Given the description of an element on the screen output the (x, y) to click on. 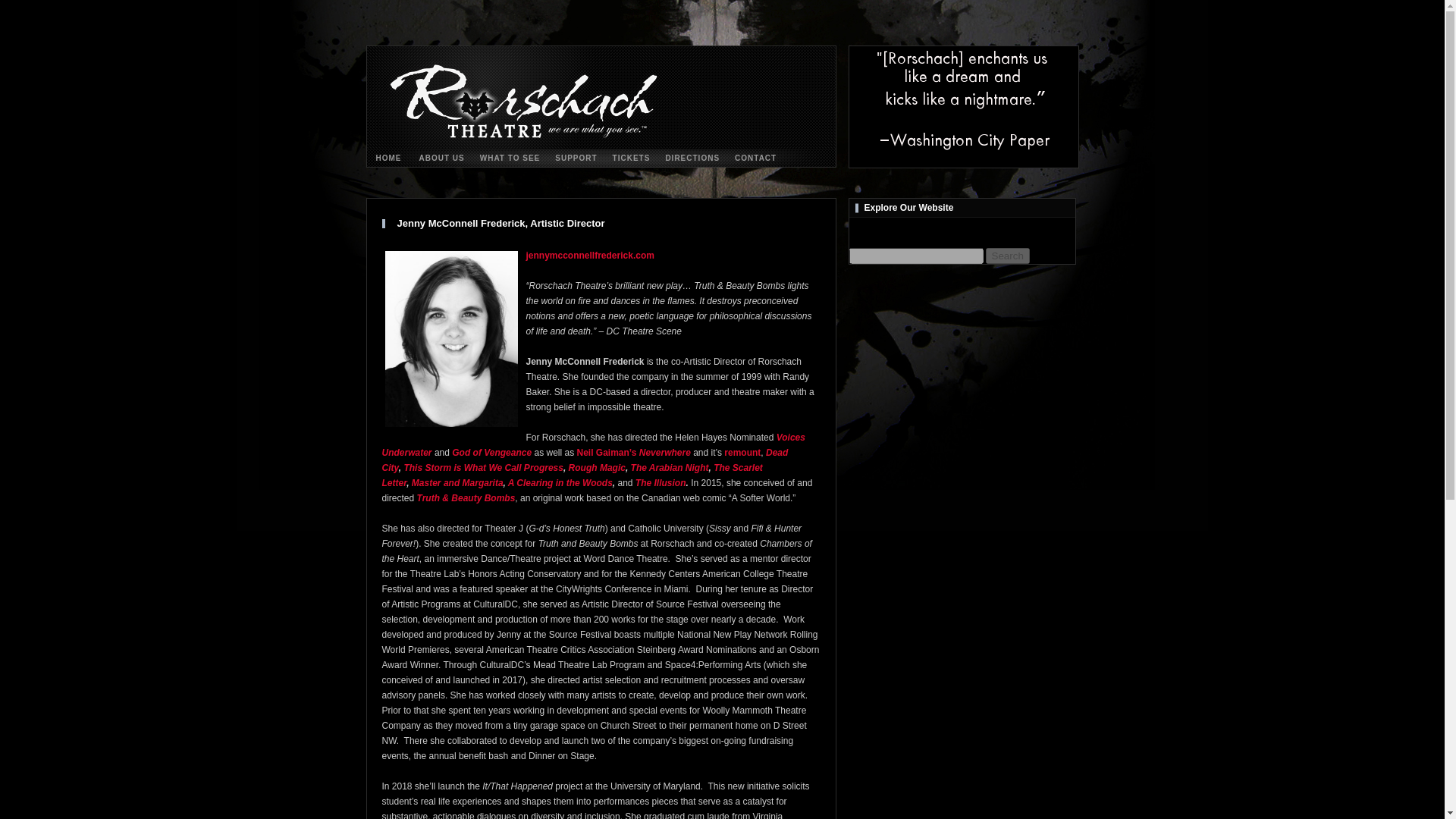
remount (741, 452)
ABOUT US (440, 157)
This Storm is What We Call Progress (483, 467)
Dead City (585, 460)
Voices Underwater (593, 444)
HOME (387, 157)
CONTACT (755, 157)
DIRECTIONS (692, 157)
God of Vengeance (491, 452)
Search (1007, 255)
